Given the description of an element on the screen output the (x, y) to click on. 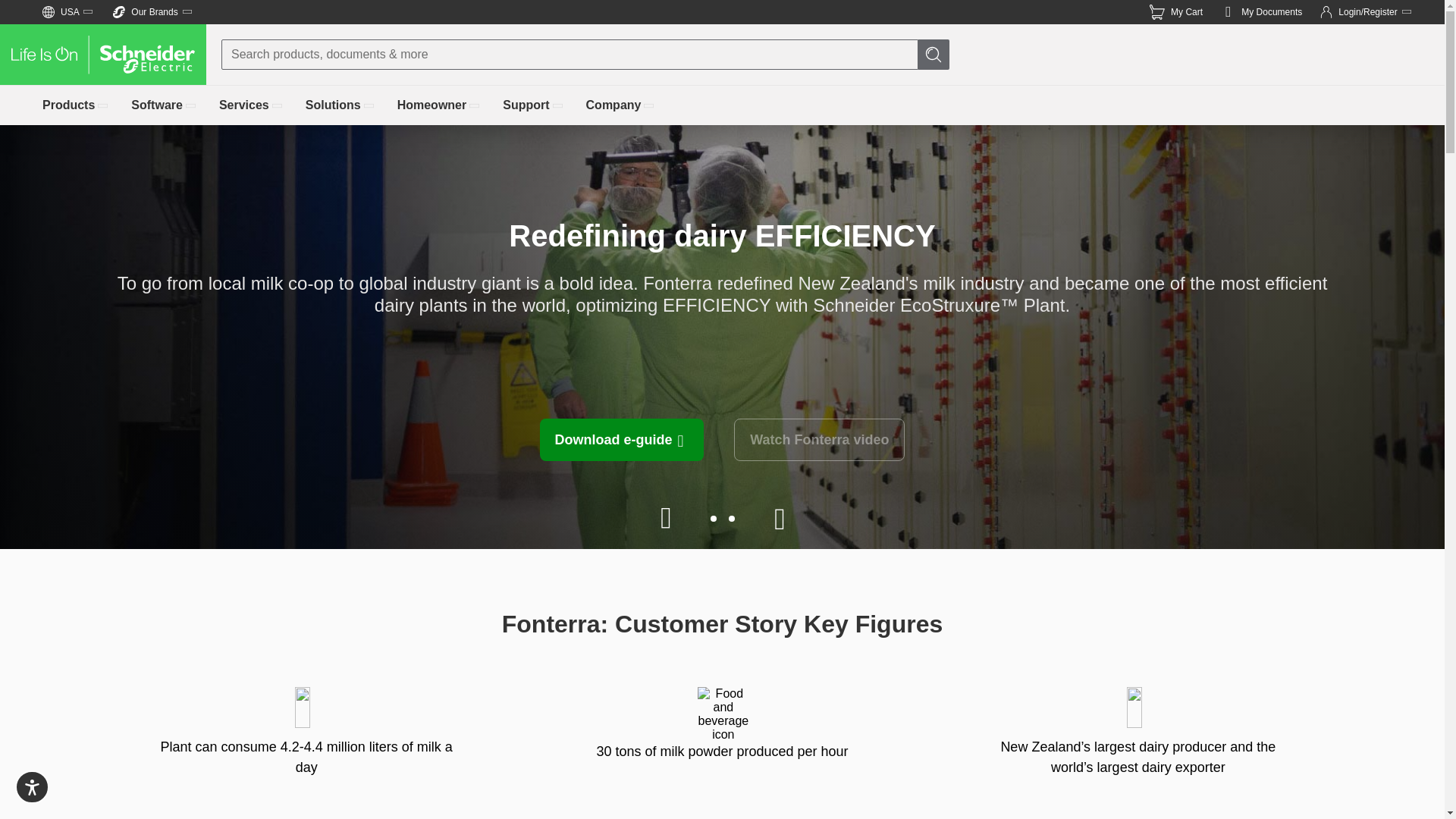
Software (164, 105)
Company (621, 105)
Search (933, 54)
SE logo LIO white header (103, 54)
Solutions (1176, 12)
Products (340, 105)
Download e-guide (76, 105)
Watch Fonterra video (622, 439)
Search (818, 439)
USA (15, 15)
Skip To Main Content (68, 12)
Cancel (5, 2)
Homeowner (18, 6)
